Given the description of an element on the screen output the (x, y) to click on. 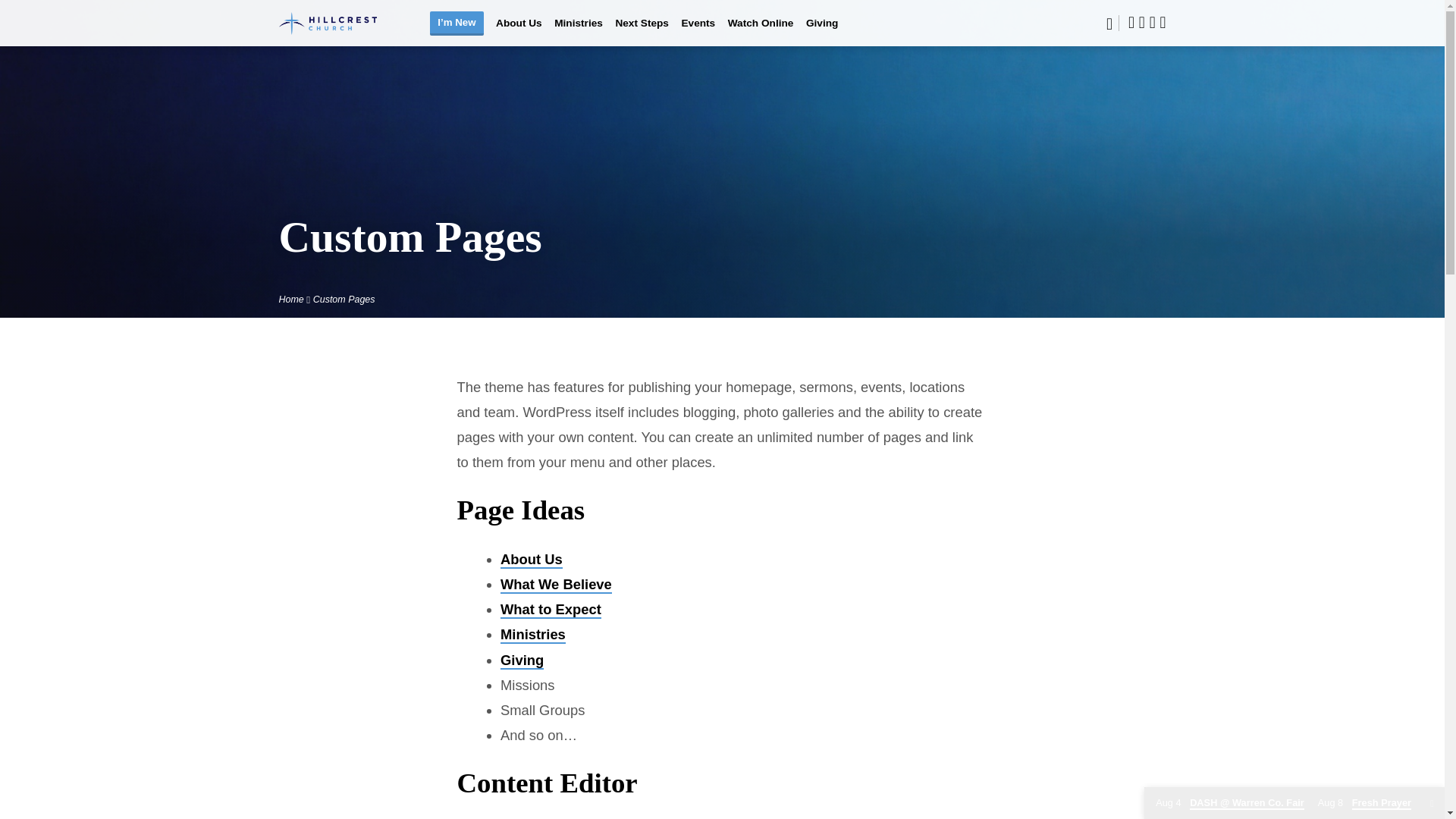
About Us (518, 32)
Home (291, 299)
Events (697, 32)
Giving (822, 32)
About Us (531, 559)
Fresh Prayer (1363, 802)
Watch Online (760, 32)
Ministries (578, 32)
Next Steps (641, 32)
Custom Pages (344, 299)
